Given the description of an element on the screen output the (x, y) to click on. 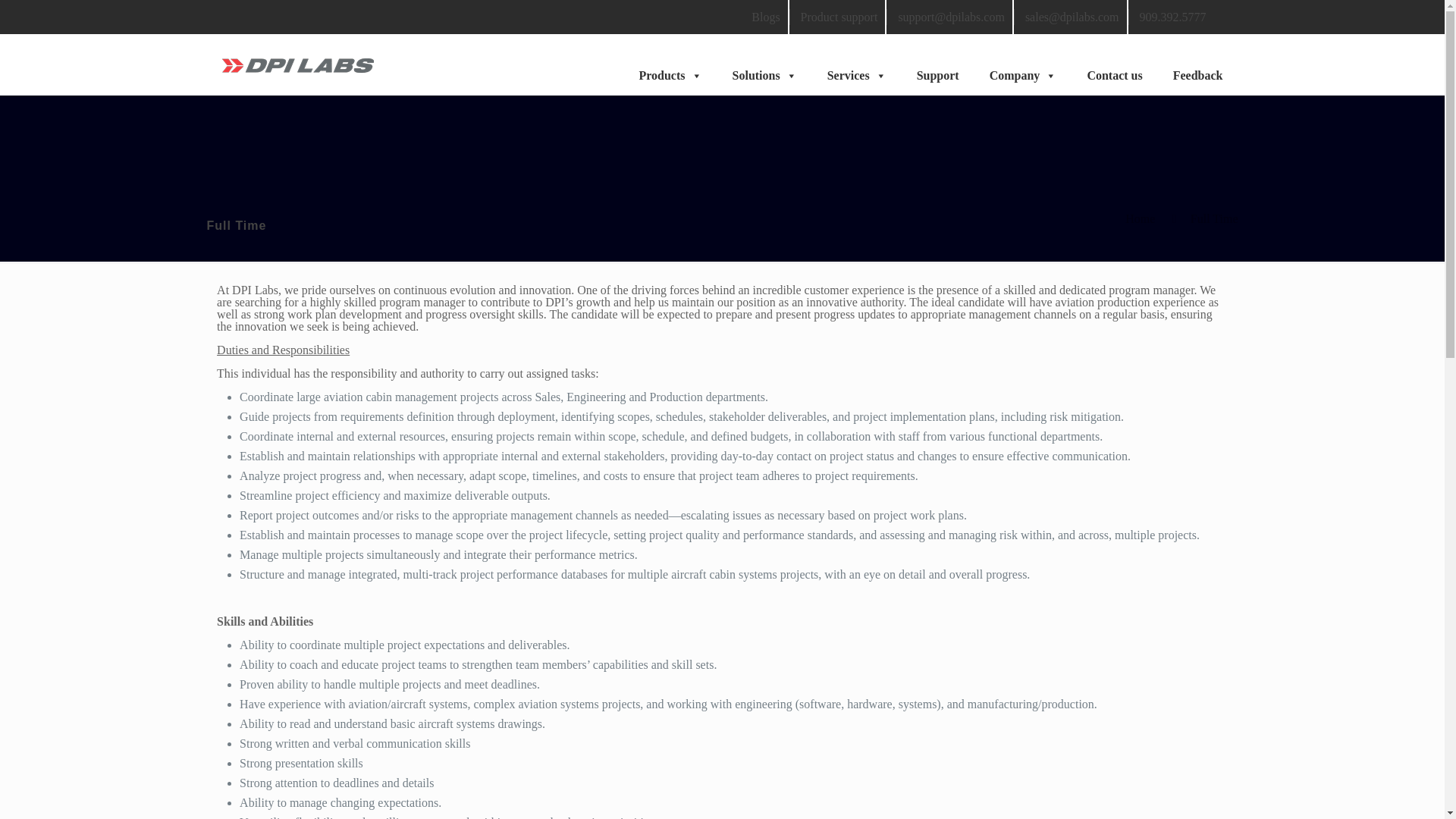
Solutions (764, 64)
Product support (839, 17)
Blogs (766, 17)
Feedback (1198, 64)
Contact us (1114, 64)
Products (669, 64)
909.392.5777 (1171, 17)
Services (856, 64)
Home (1139, 218)
Company (1022, 64)
Support (937, 64)
DPI Labs Inc. (296, 64)
